Given the description of an element on the screen output the (x, y) to click on. 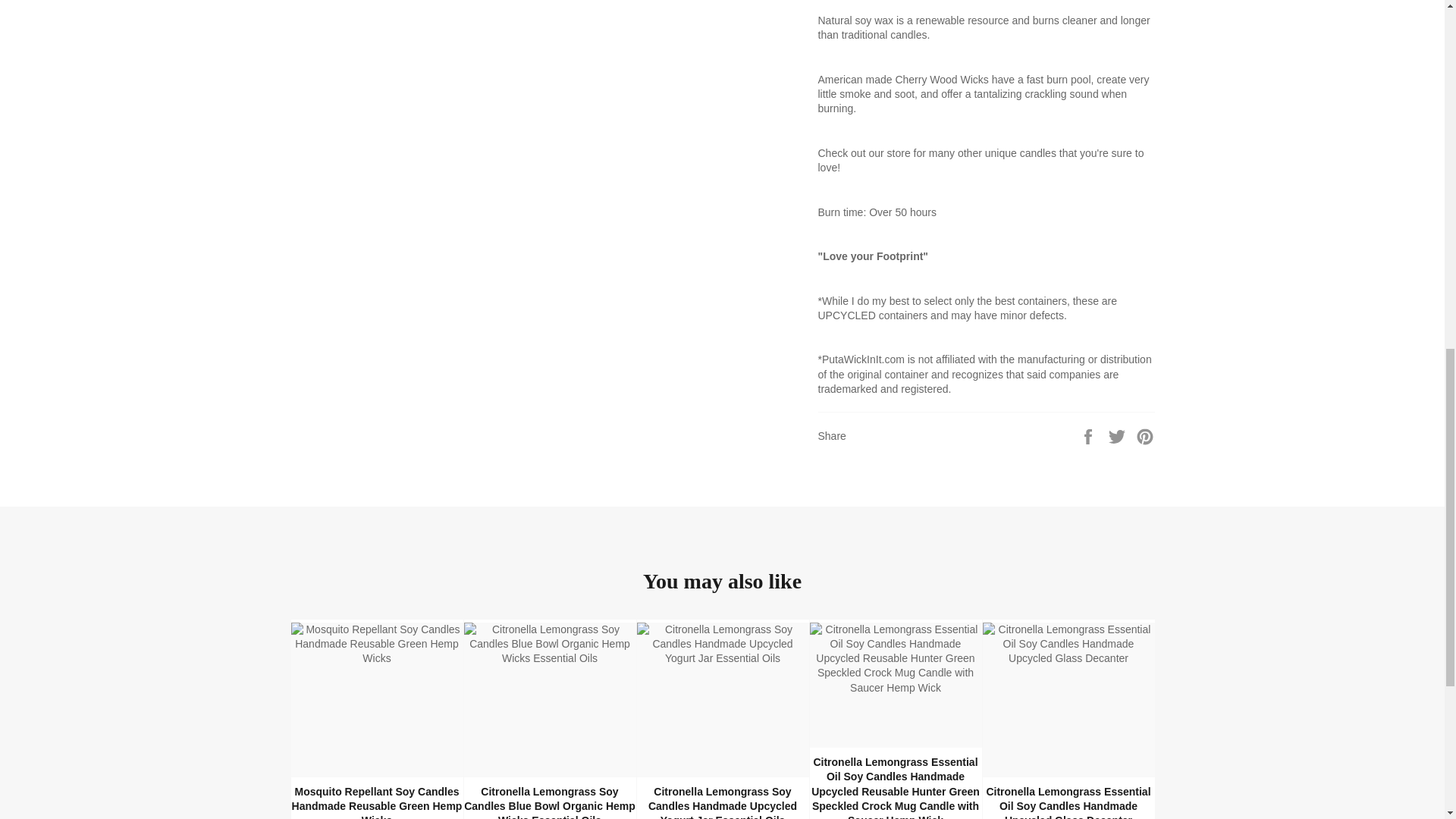
Pin on Pinterest (1144, 435)
Tweet on Twitter (1118, 435)
Share on Facebook (1089, 435)
